Given the description of an element on the screen output the (x, y) to click on. 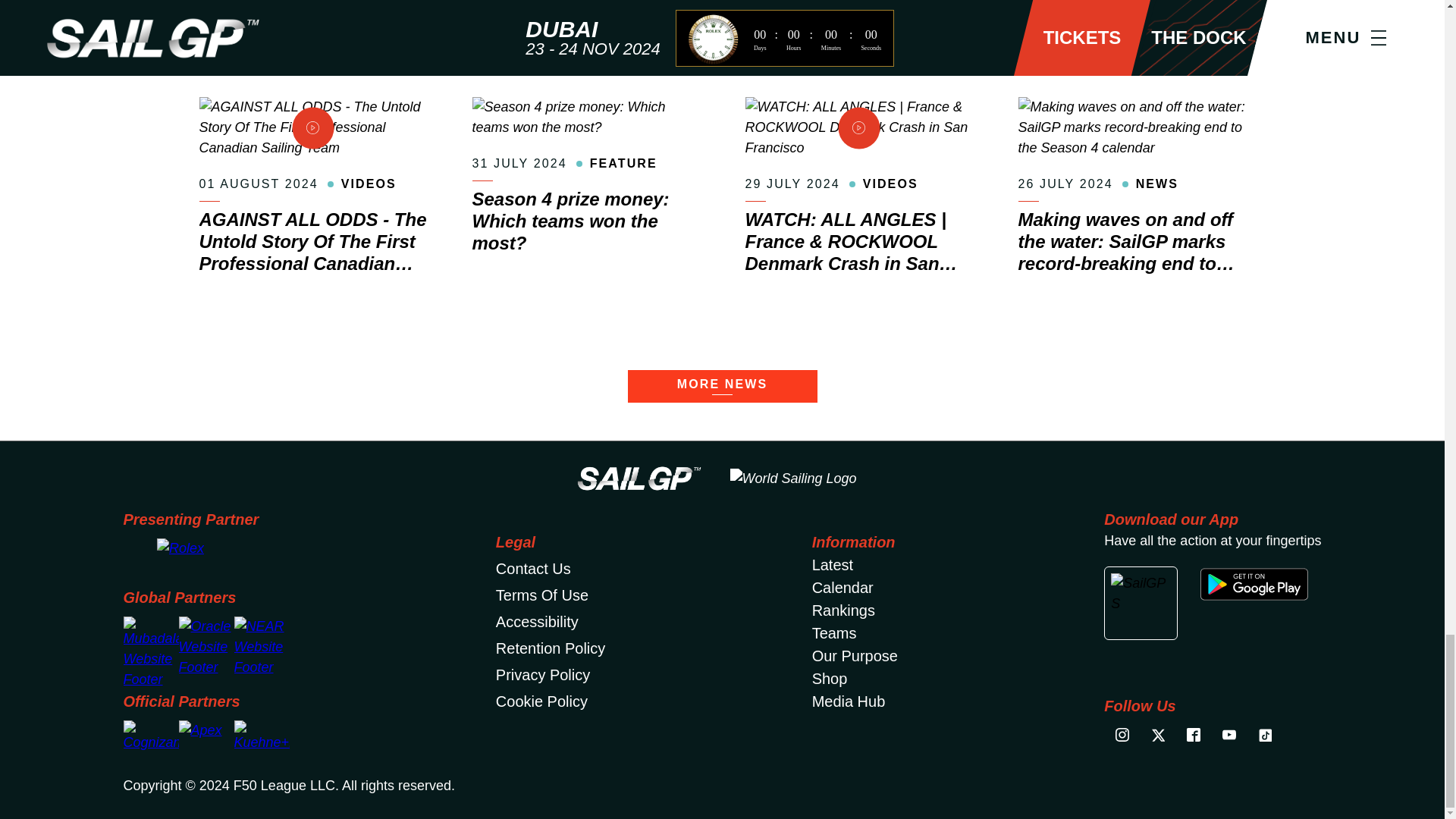
Teams (834, 632)
Accessibility (537, 621)
Latest (832, 564)
Calendar (842, 587)
Cookie Policy (542, 701)
Privacy Policy (542, 674)
MORE NEWS (721, 386)
Contact Us (533, 568)
Terms Of Use (542, 594)
Rankings (843, 610)
Retention Policy (550, 648)
